Given the description of an element on the screen output the (x, y) to click on. 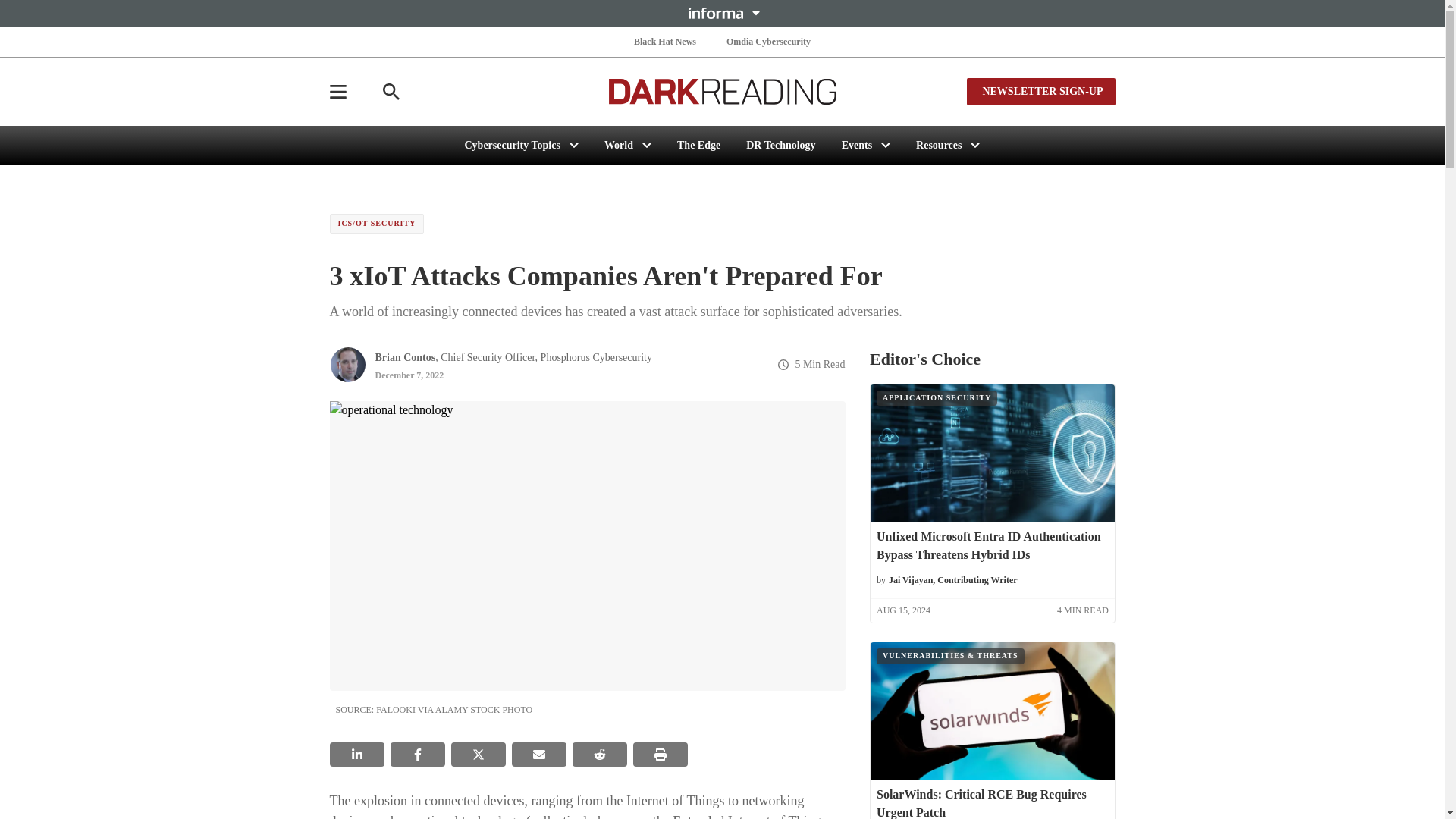
NEWSLETTER SIGN-UP (1040, 90)
Omdia Cybersecurity (768, 41)
Dark Reading Logo (721, 91)
Black Hat News (664, 41)
Picture of Brian Contos (347, 364)
